Given the description of an element on the screen output the (x, y) to click on. 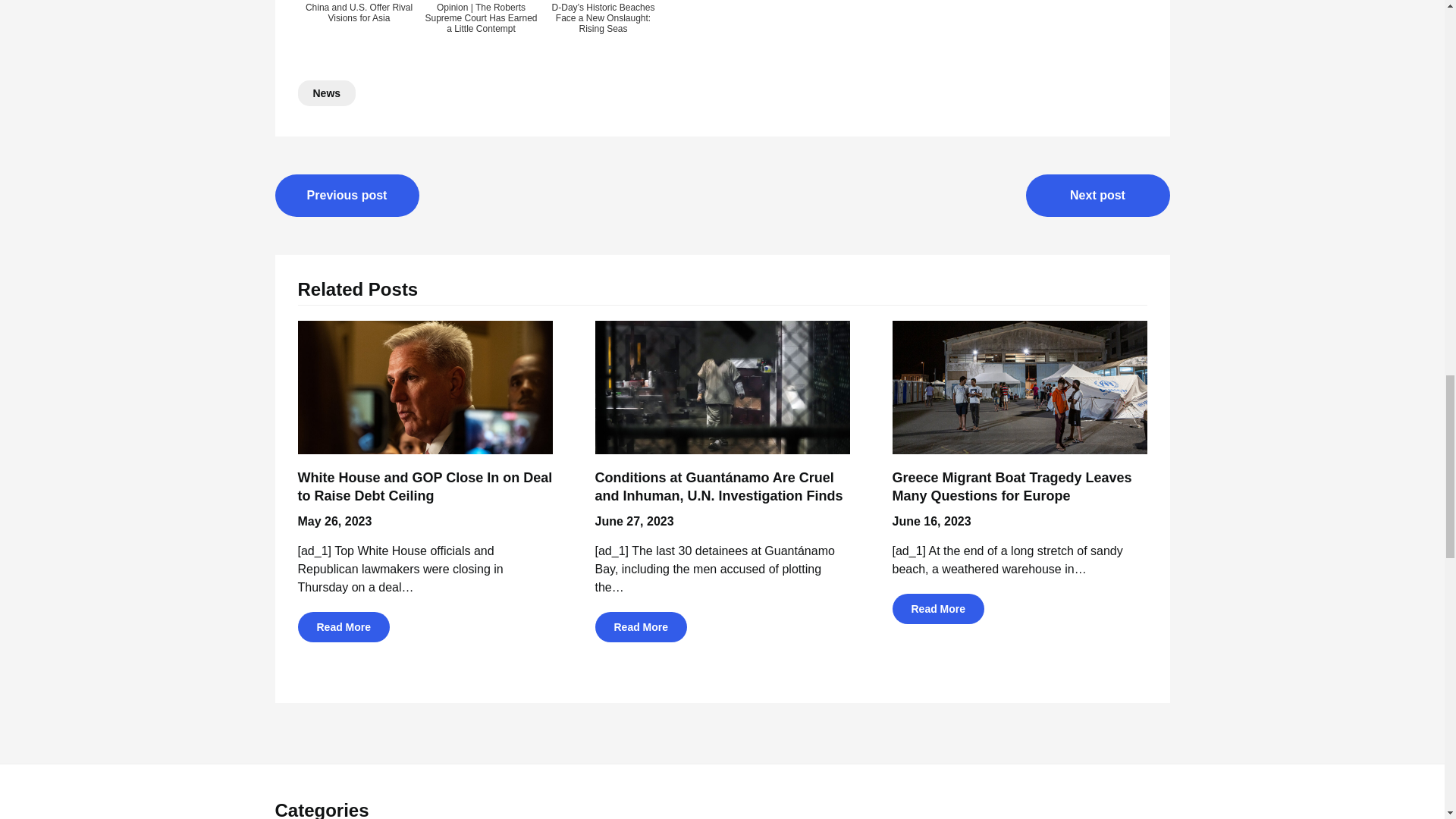
China and U.S. Offer Rival Visions for Asia (358, 30)
News (326, 93)
